Given the description of an element on the screen output the (x, y) to click on. 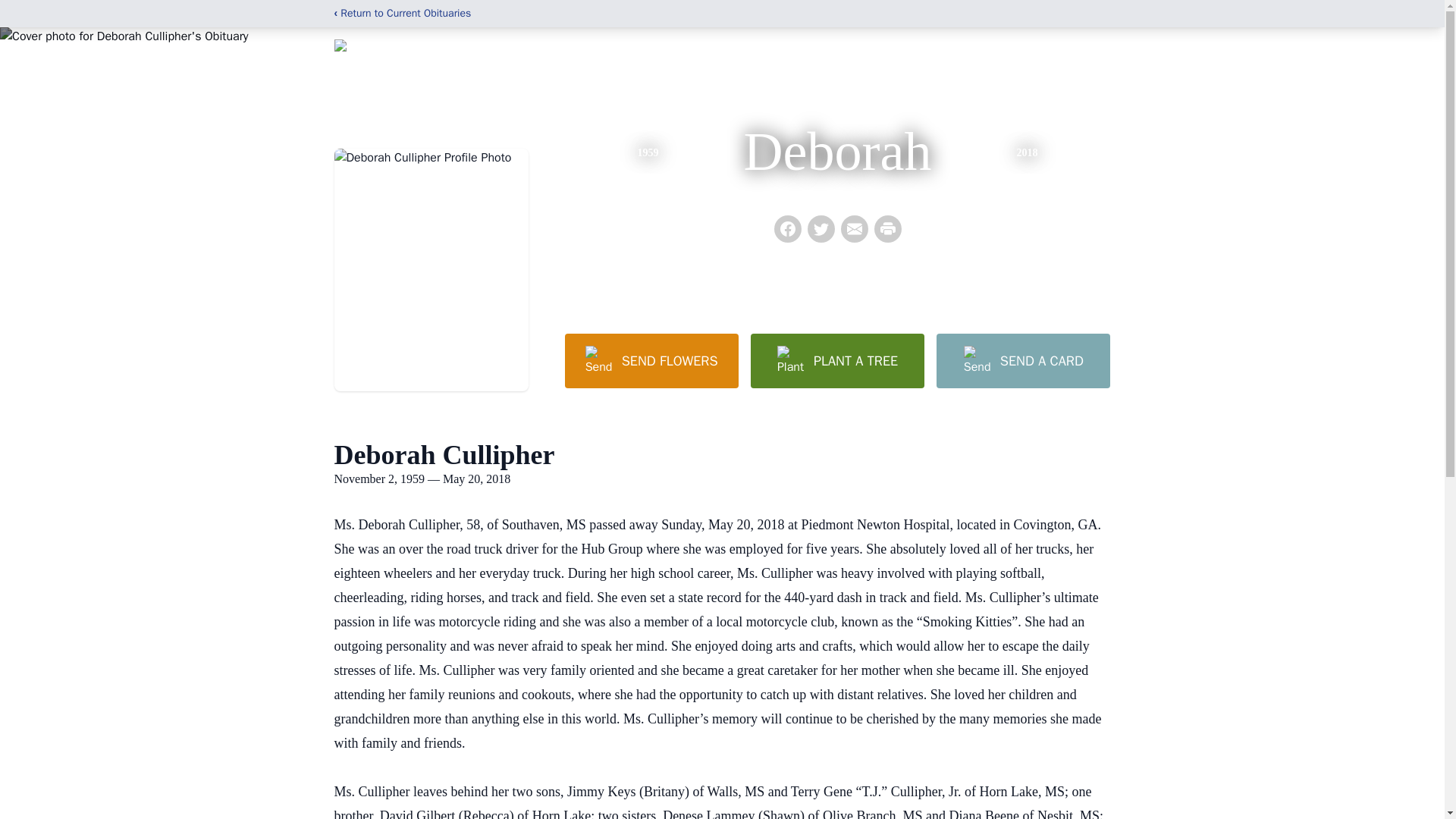
SEND A CARD (1022, 360)
SEND FLOWERS (651, 360)
PLANT A TREE (837, 360)
